Given the description of an element on the screen output the (x, y) to click on. 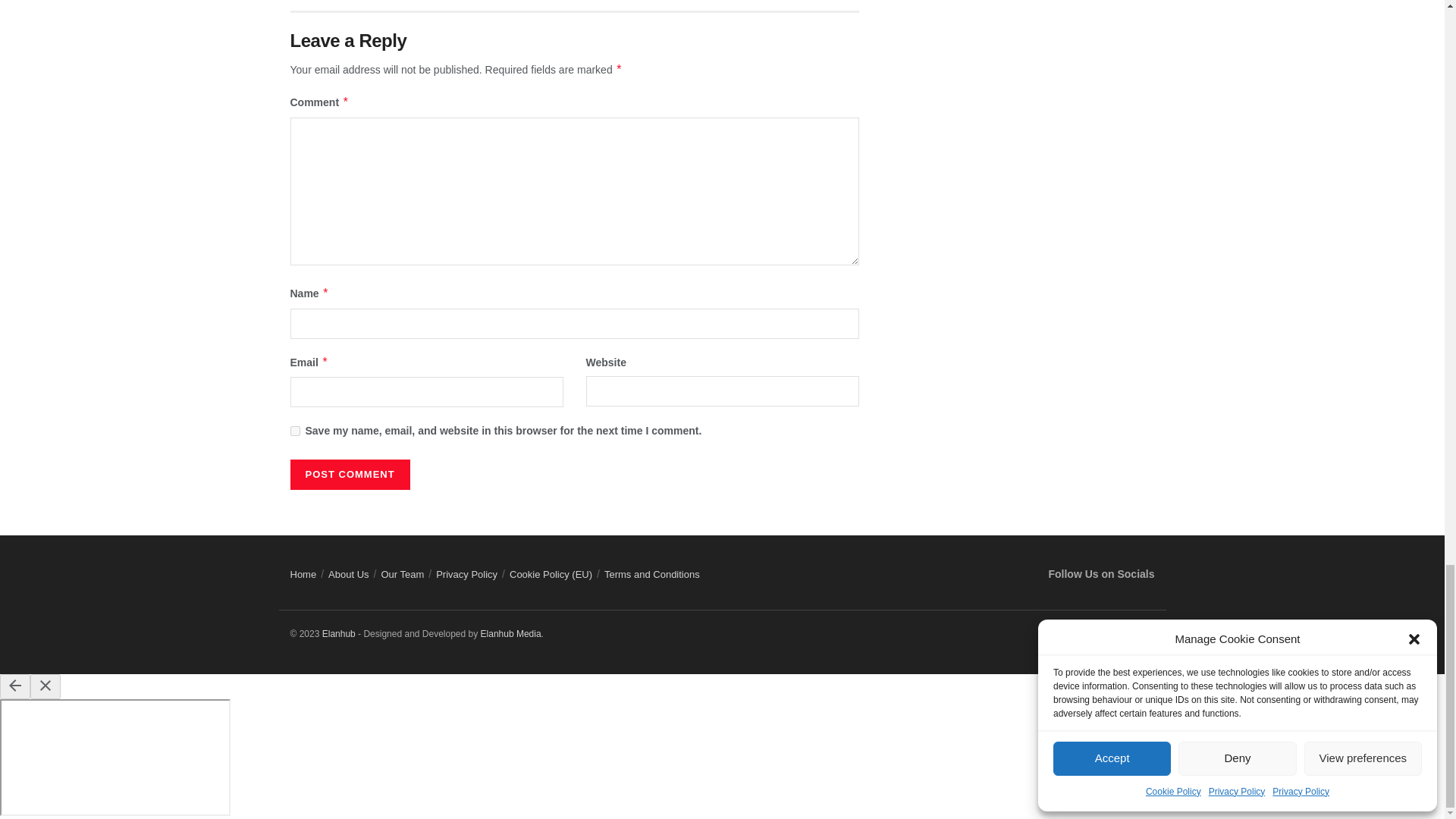
Elanhub Media (338, 633)
Post Comment (349, 474)
Elanhub Media (510, 633)
yes (294, 430)
